Given the description of an element on the screen output the (x, y) to click on. 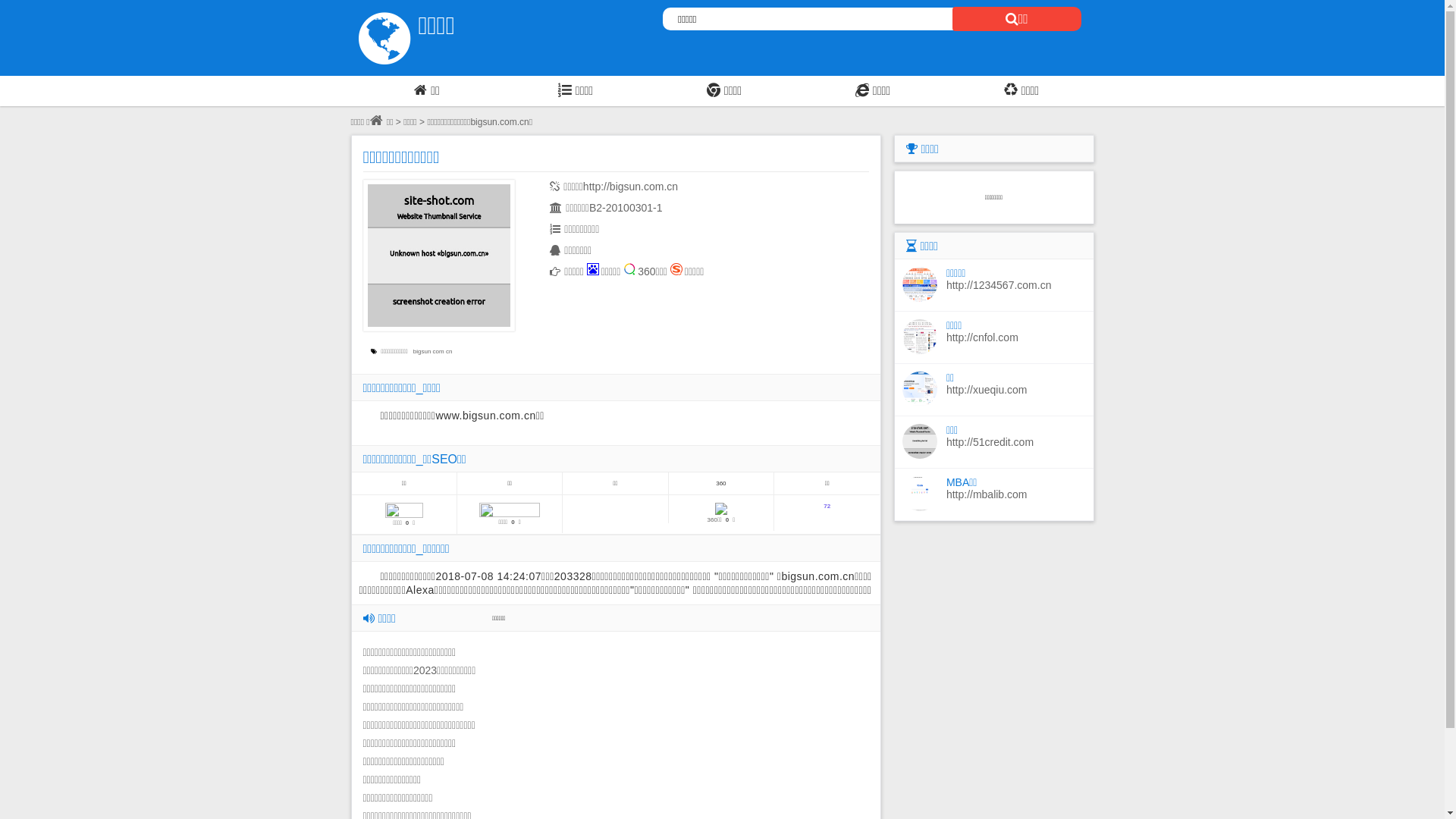
http://bigsun.com.cn Element type: text (630, 186)
bigsun com cn Element type: text (434, 351)
